Given the description of an element on the screen output the (x, y) to click on. 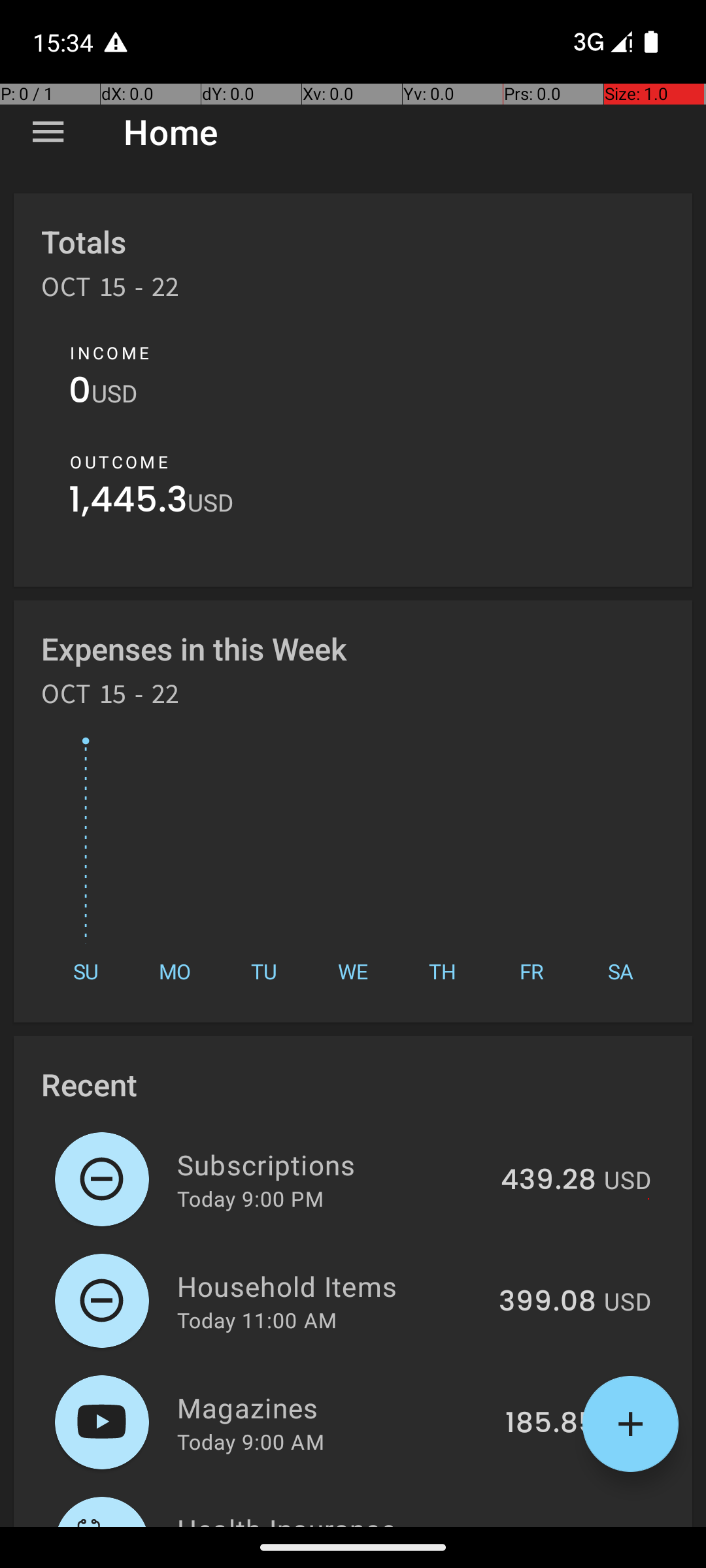
1,445.3 Element type: android.widget.TextView (127, 502)
Subscriptions Element type: android.widget.TextView (331, 1164)
Today 9:00 PM Element type: android.widget.TextView (250, 1198)
439.28 Element type: android.widget.TextView (548, 1180)
Household Items Element type: android.widget.TextView (330, 1285)
Today 11:00 AM Element type: android.widget.TextView (256, 1320)
399.08 Element type: android.widget.TextView (547, 1301)
Magazines Element type: android.widget.TextView (333, 1407)
Today 9:00 AM Element type: android.widget.TextView (250, 1441)
185.85 Element type: android.widget.TextView (550, 1423)
Health Insurance Element type: android.widget.TextView (338, 1518)
319.18 Element type: android.widget.TextView (554, 1524)
